Given the description of an element on the screen output the (x, y) to click on. 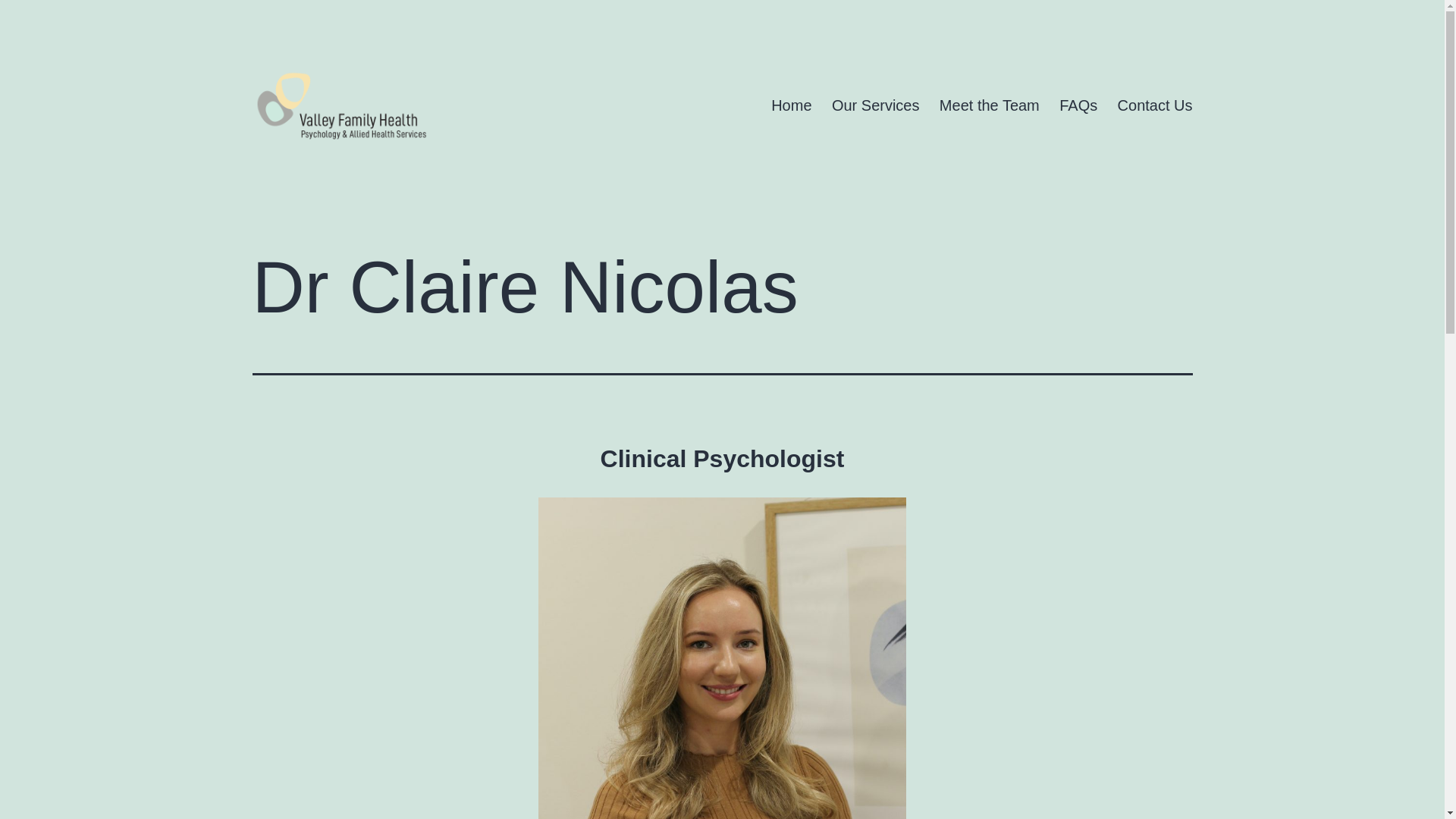
Home (791, 104)
Our Services (876, 104)
Contact Us (1154, 104)
FAQs (1077, 104)
Meet the Team (989, 104)
